Given the description of an element on the screen output the (x, y) to click on. 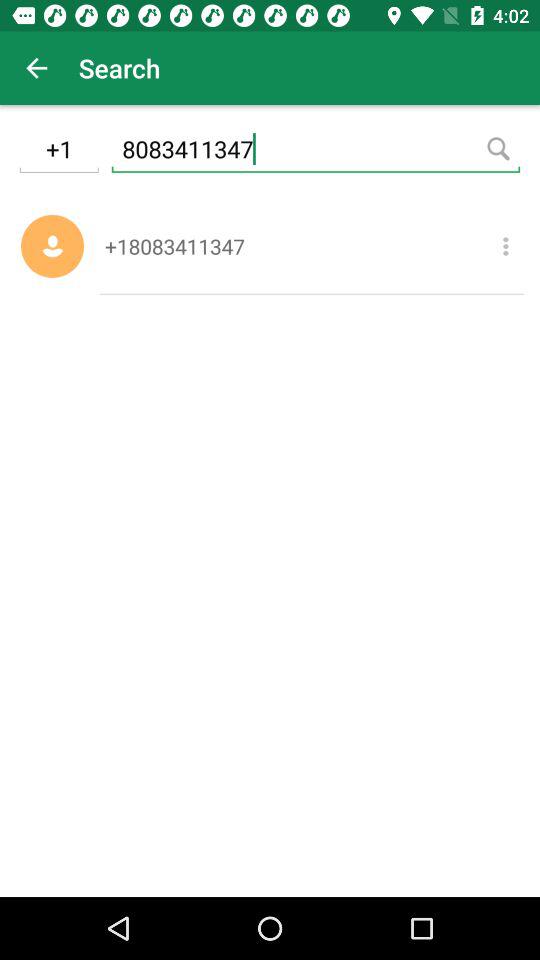
see more options (505, 246)
